Given the description of an element on the screen output the (x, y) to click on. 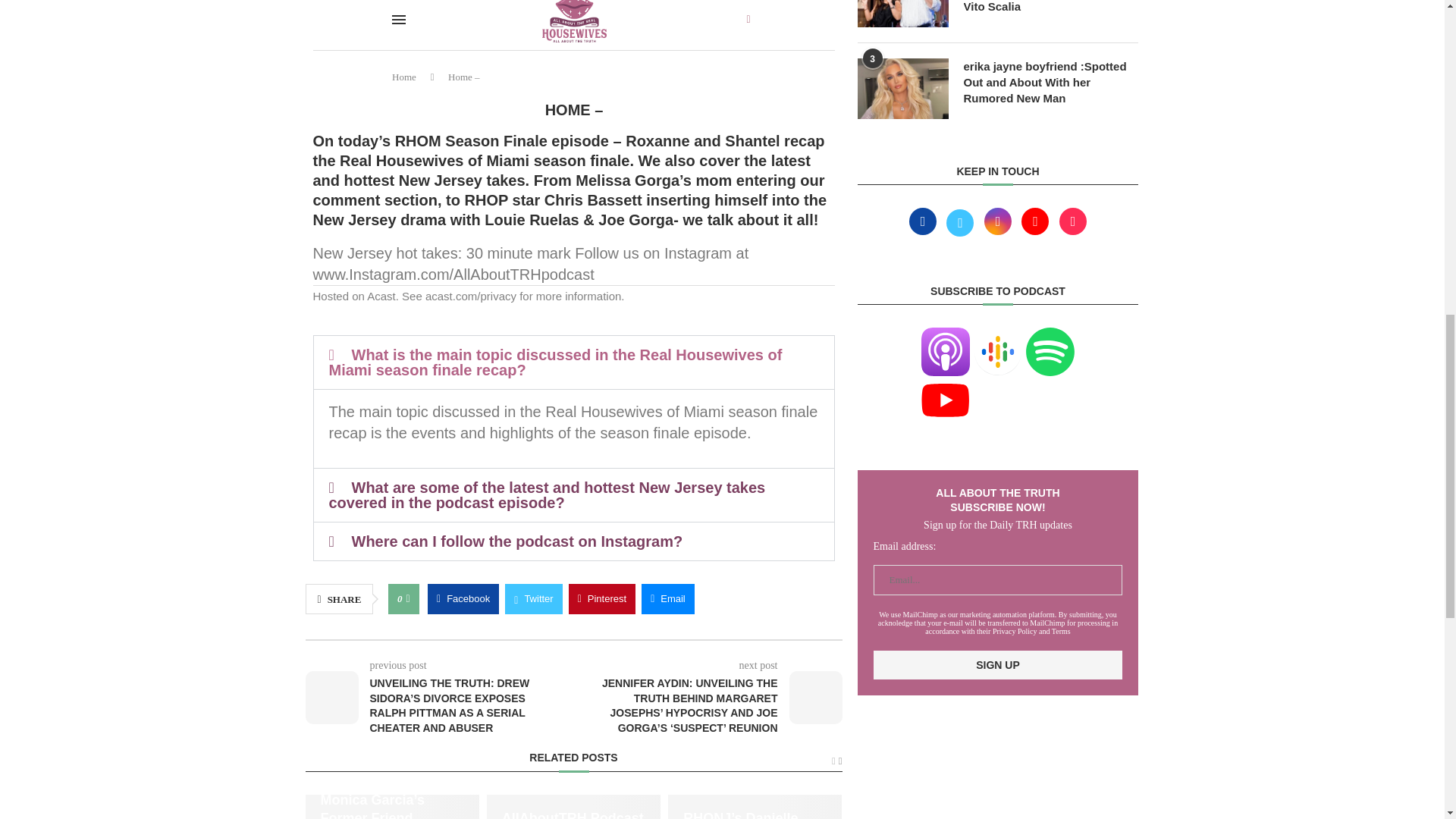
Sign Up (997, 664)
